Given the description of an element on the screen output the (x, y) to click on. 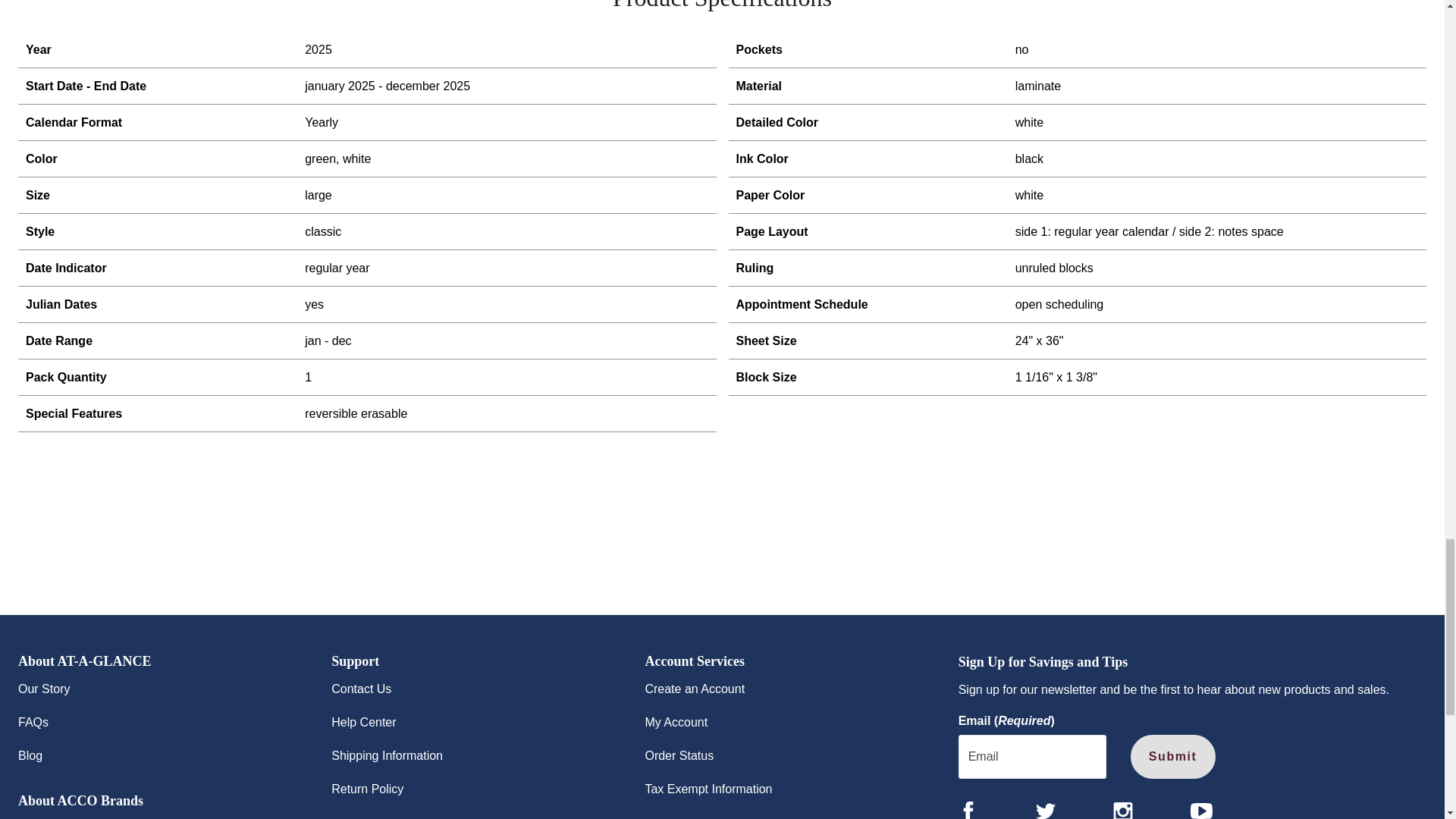
Follow us on Instagram (1122, 810)
Connect with us on Twitter (1045, 810)
Like us on Facebook (968, 810)
Find us on YouTube (1201, 811)
